Given the description of an element on the screen output the (x, y) to click on. 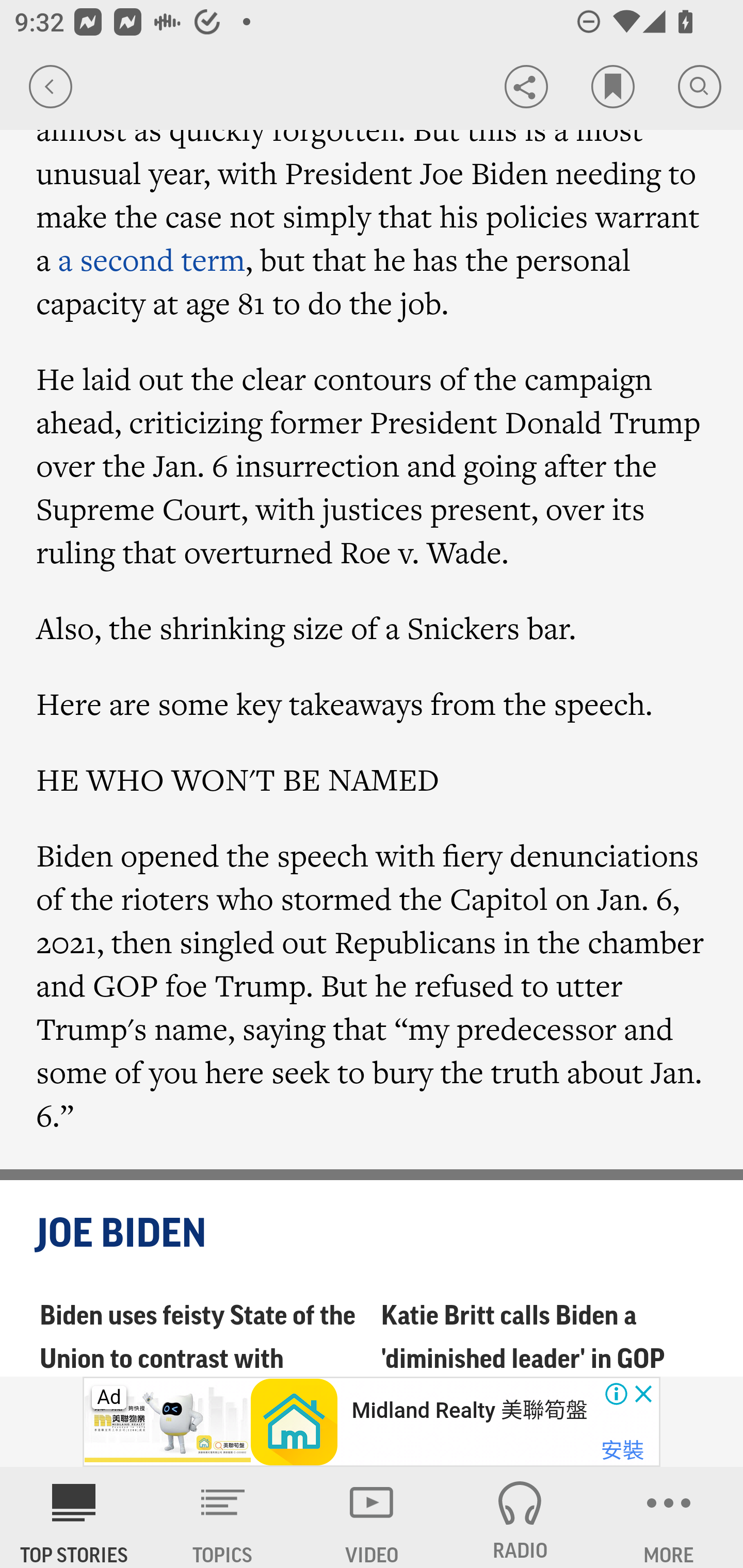
a second term (151, 259)
JOE BIDEN (372, 1233)
Midland Realty 美聯筍盤 (468, 1410)
安裝 (621, 1450)
AP News TOP STORIES (74, 1517)
TOPICS (222, 1517)
VIDEO (371, 1517)
RADIO (519, 1517)
MORE (668, 1517)
